Given the description of an element on the screen output the (x, y) to click on. 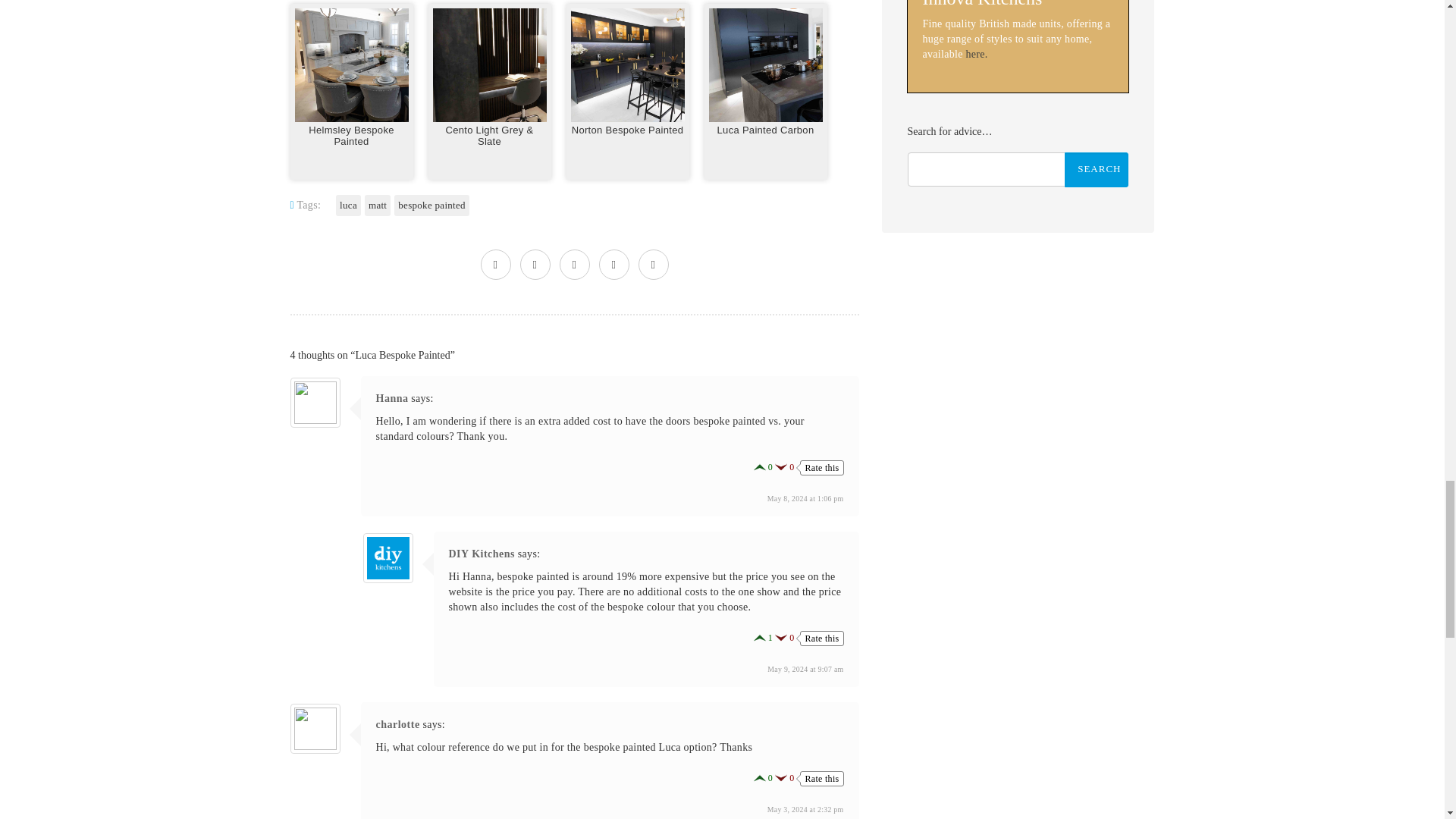
facebook (534, 265)
Search (1096, 169)
